Given the description of an element on the screen output the (x, y) to click on. 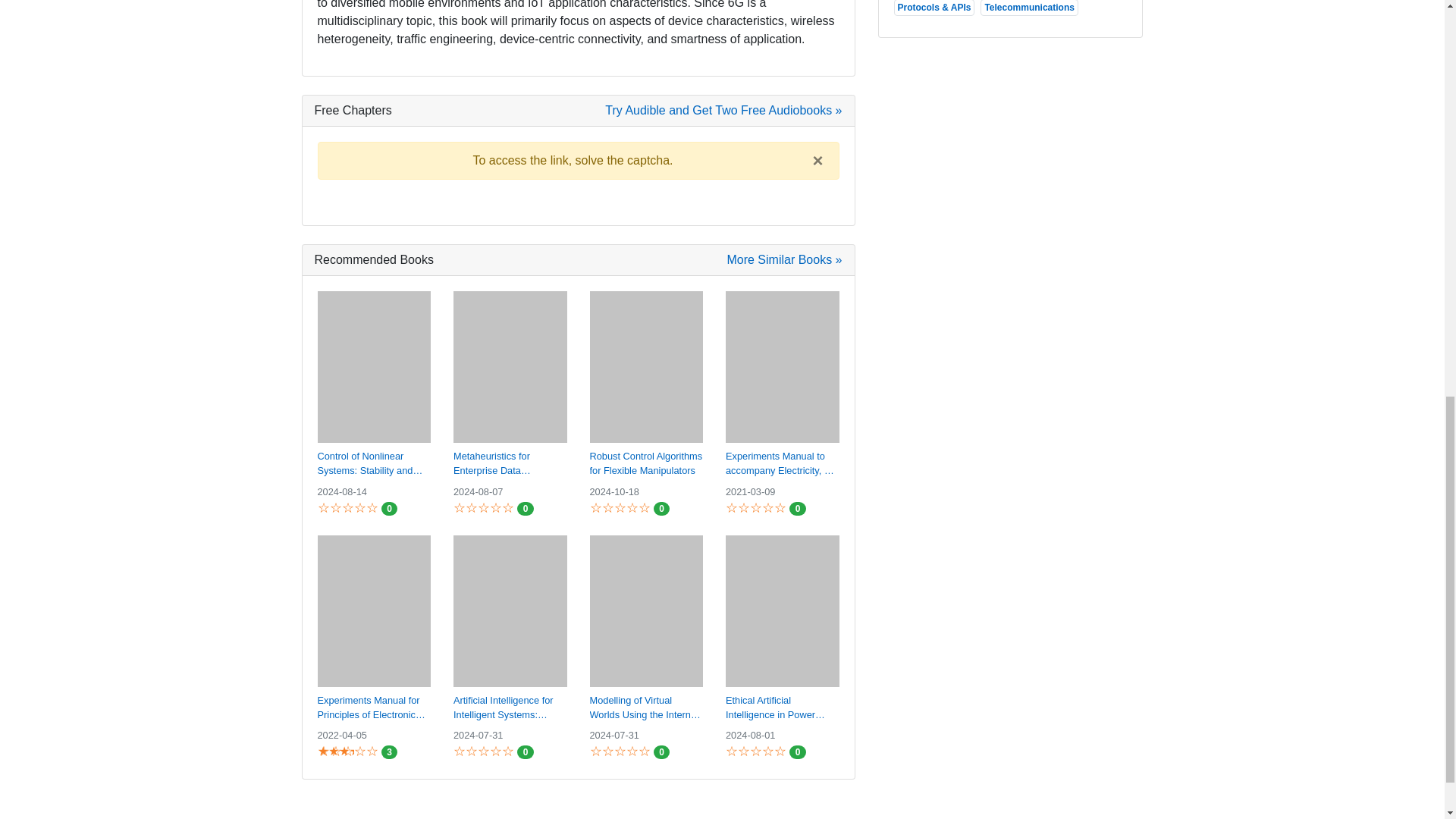
3 out of 5 Stars (335, 751)
